Given the description of an element on the screen output the (x, y) to click on. 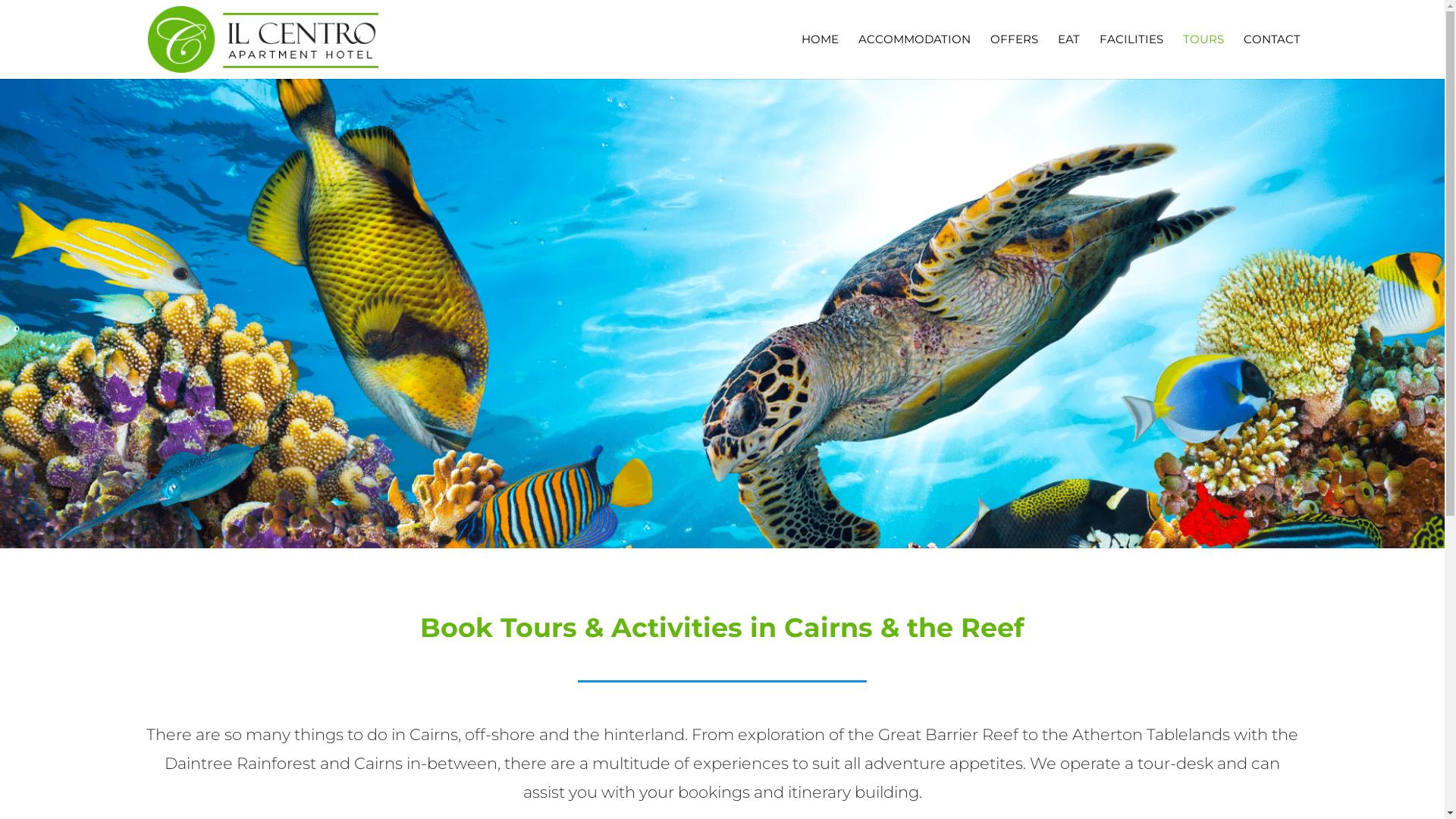
OFFERS Element type: text (1014, 56)
CONTACT Element type: text (1271, 56)
HOME Element type: text (818, 56)
EAT Element type: text (1068, 56)
FACILITIES Element type: text (1131, 56)
ACCOMMODATION Element type: text (914, 56)
TOURS Element type: text (1203, 56)
